Given the description of an element on the screen output the (x, y) to click on. 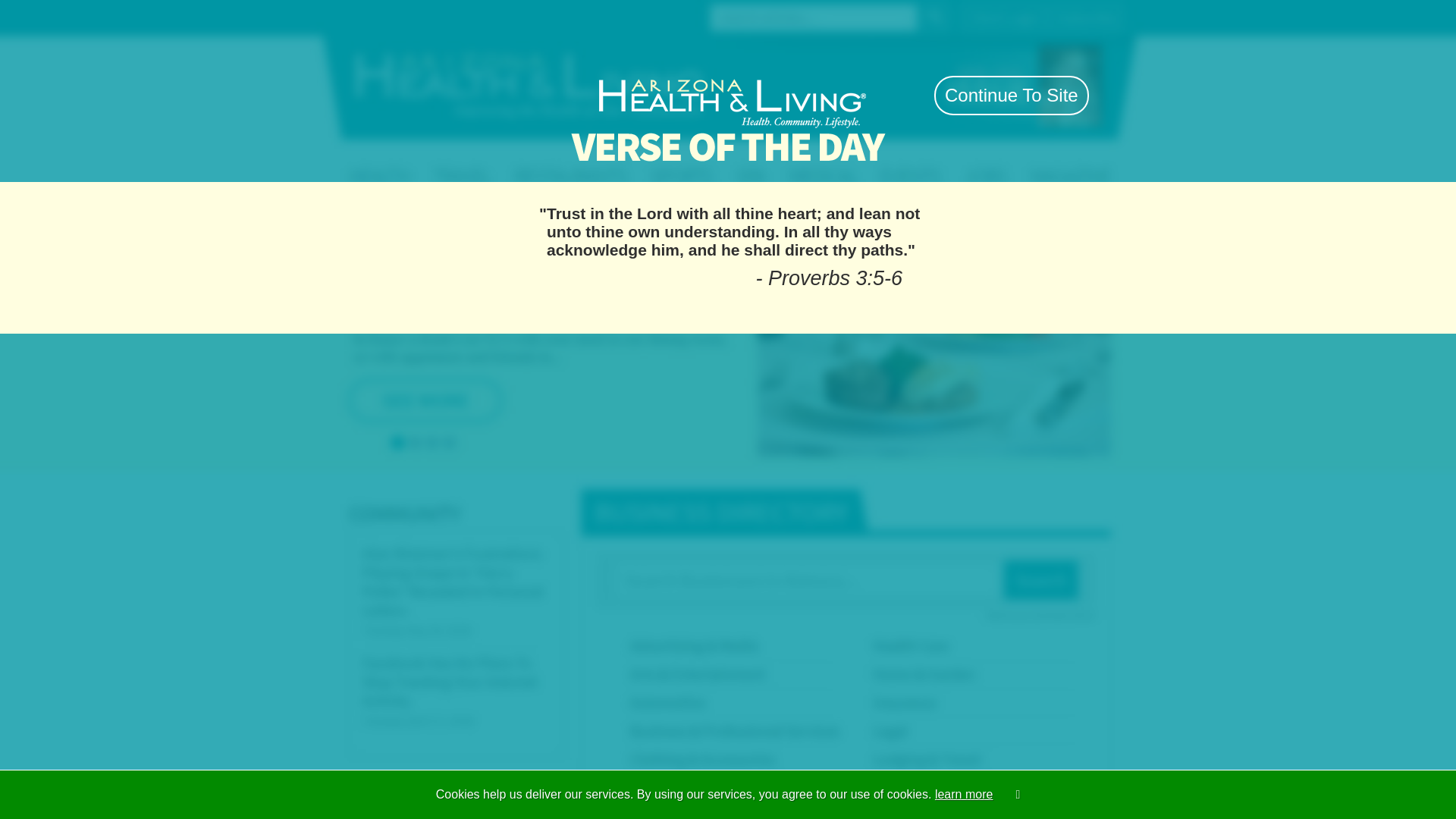
BLOG (1101, 160)
New Moon Celebration with SOUND (626, 339)
Sign In (1047, 16)
FOOD (771, 160)
EVENTS (986, 160)
advertise (927, 93)
Contact Us (442, 16)
TRAVEL (658, 160)
close (899, 56)
view issue (975, 93)
